Given the description of an element on the screen output the (x, y) to click on. 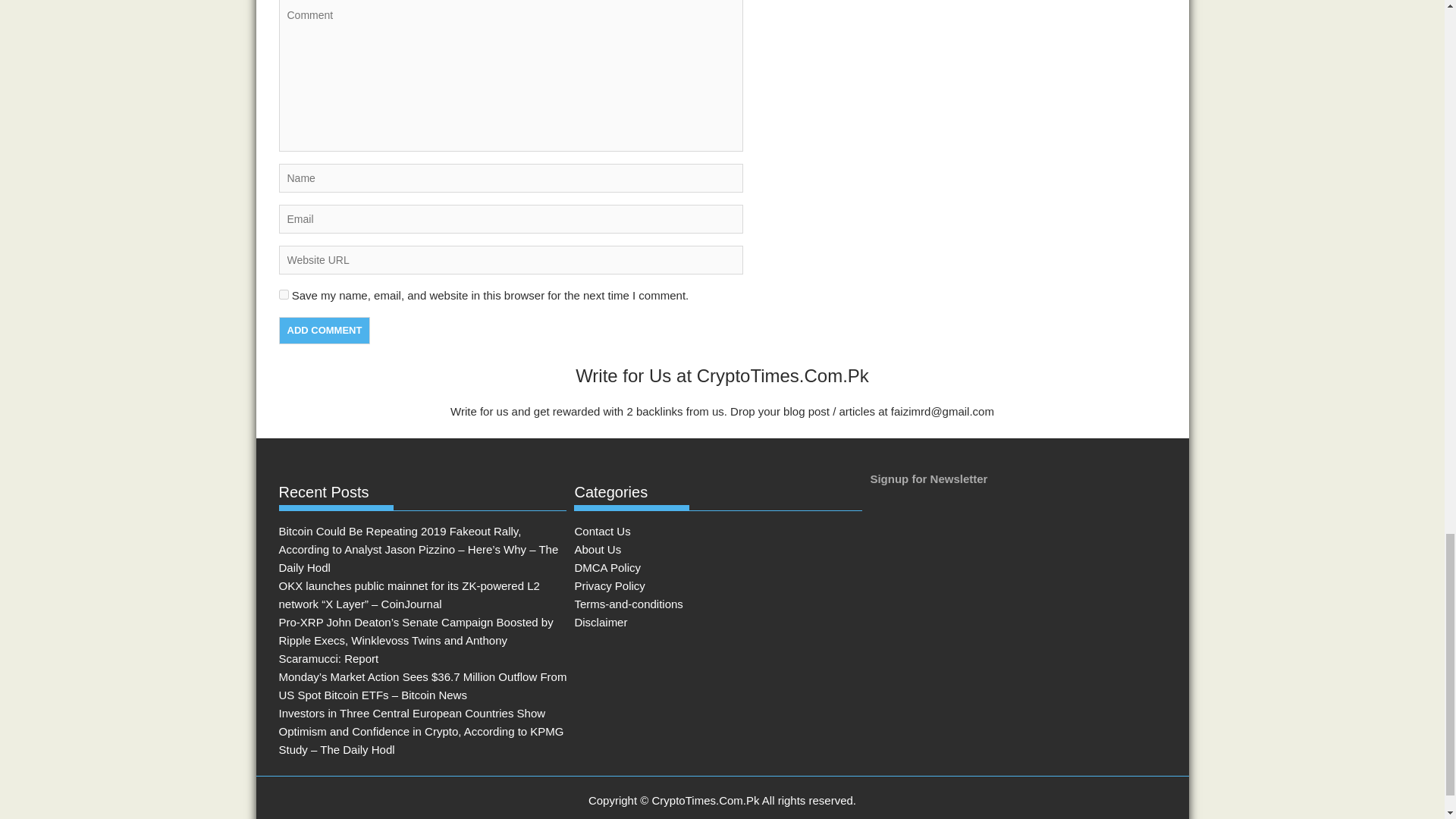
yes (283, 294)
Add Comment (325, 329)
